Given the description of an element on the screen output the (x, y) to click on. 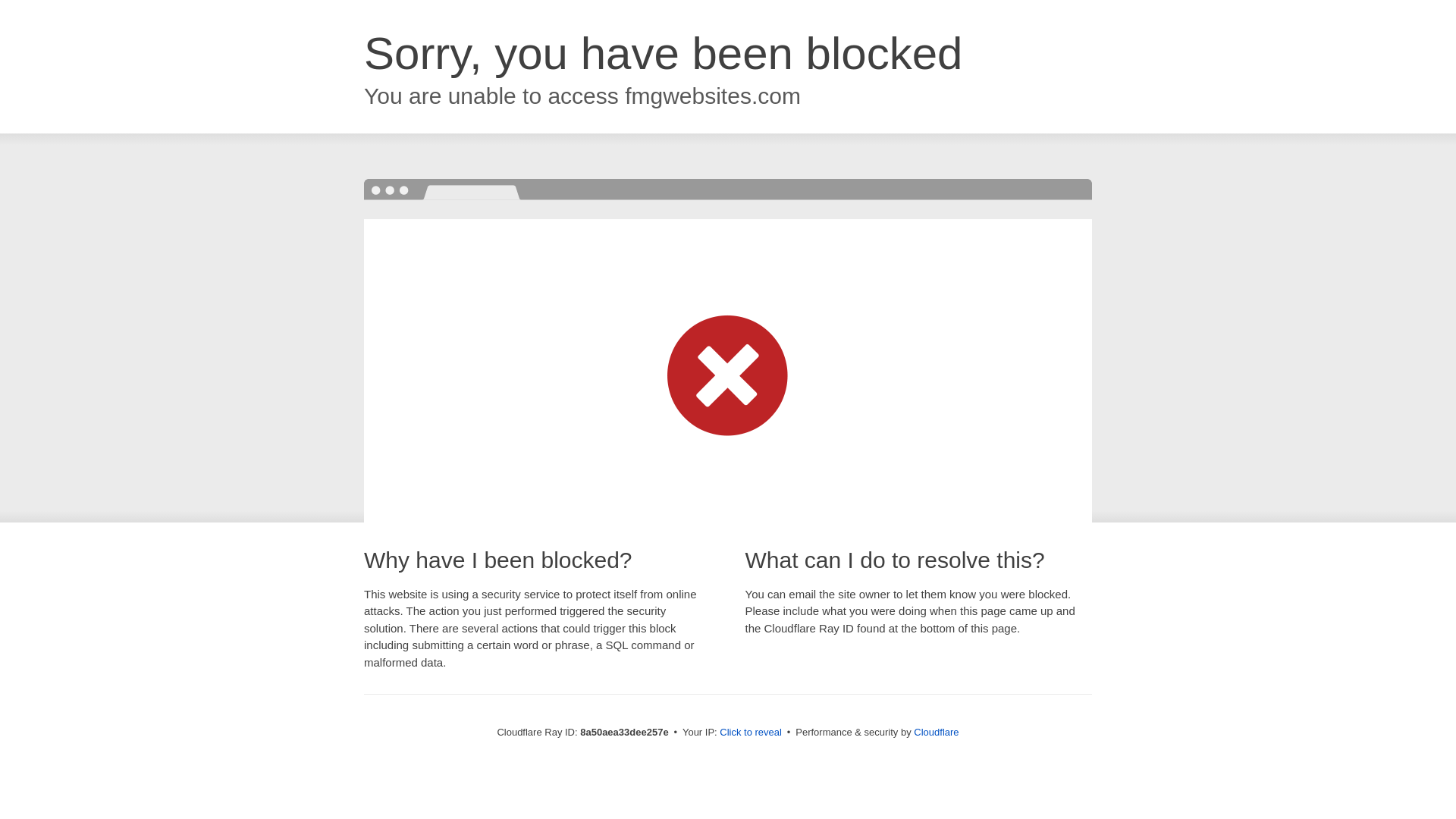
Click to reveal (750, 732)
Cloudflare (936, 731)
